Given the description of an element on the screen output the (x, y) to click on. 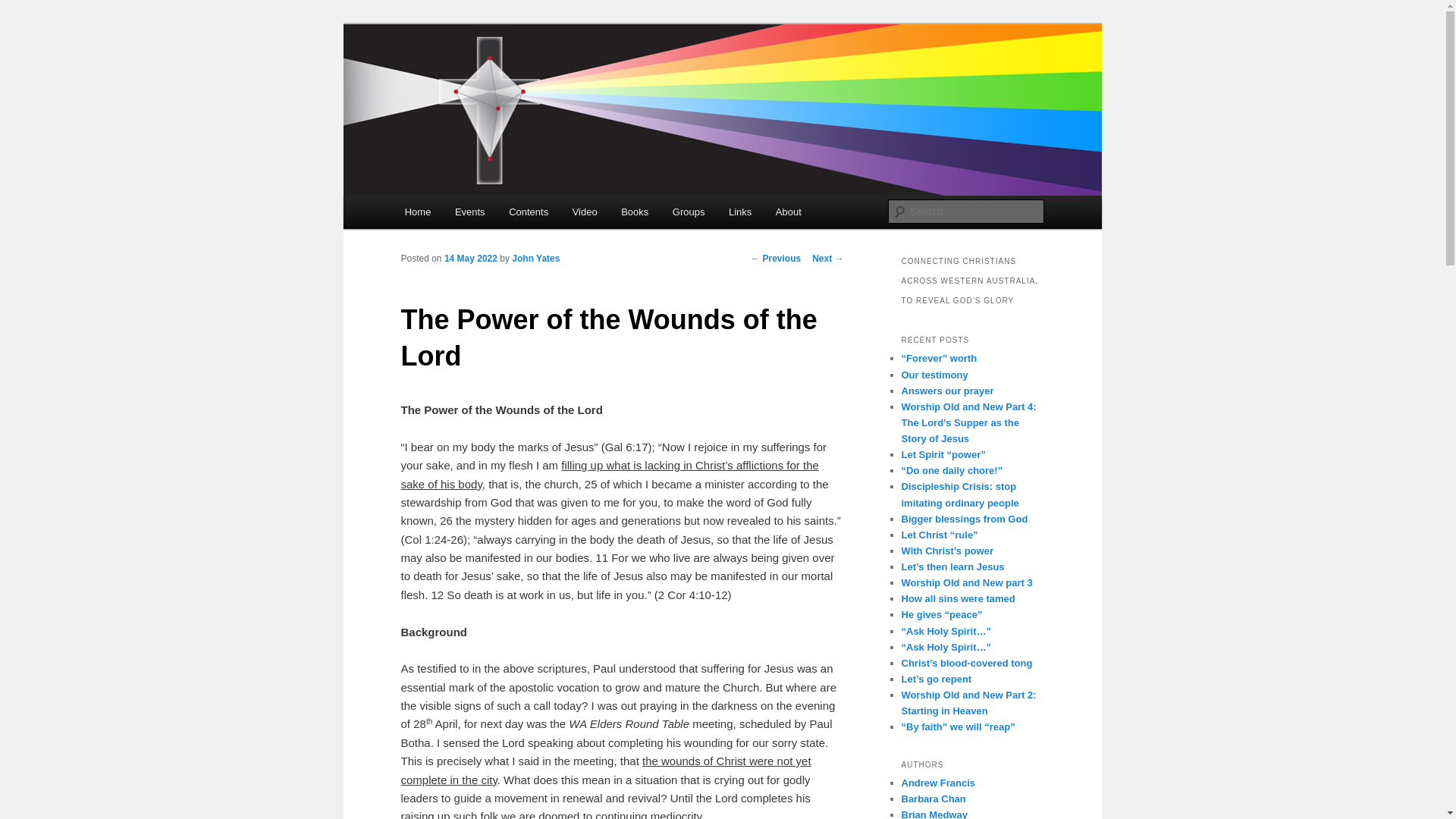
How all sins were tamed Element type: text (957, 598)
Links Element type: text (739, 211)
Skip to primary content Element type: text (472, 214)
Search Element type: text (24, 8)
Discipleship Crisis: stop imitating ordinary people Element type: text (959, 494)
Cross Connect Element type: text (480, 78)
Books Element type: text (634, 211)
Events Element type: text (469, 211)
Answers our prayer Element type: text (946, 390)
John Yates Element type: text (535, 258)
Home Element type: text (417, 211)
Bigger blessings from God Element type: text (963, 518)
Our testimony Element type: text (933, 374)
Barbara Chan Element type: text (932, 798)
Andrew Francis Element type: text (937, 782)
Skip to secondary content Element type: text (479, 214)
14 May 2022 Element type: text (470, 258)
Worship Old and New Part 2: Starting in Heaven Element type: text (967, 702)
Video Element type: text (584, 211)
Groups Element type: text (688, 211)
Worship Old and New part 3 Element type: text (966, 582)
About Element type: text (787, 211)
Contents Element type: text (528, 211)
